Given the description of an element on the screen output the (x, y) to click on. 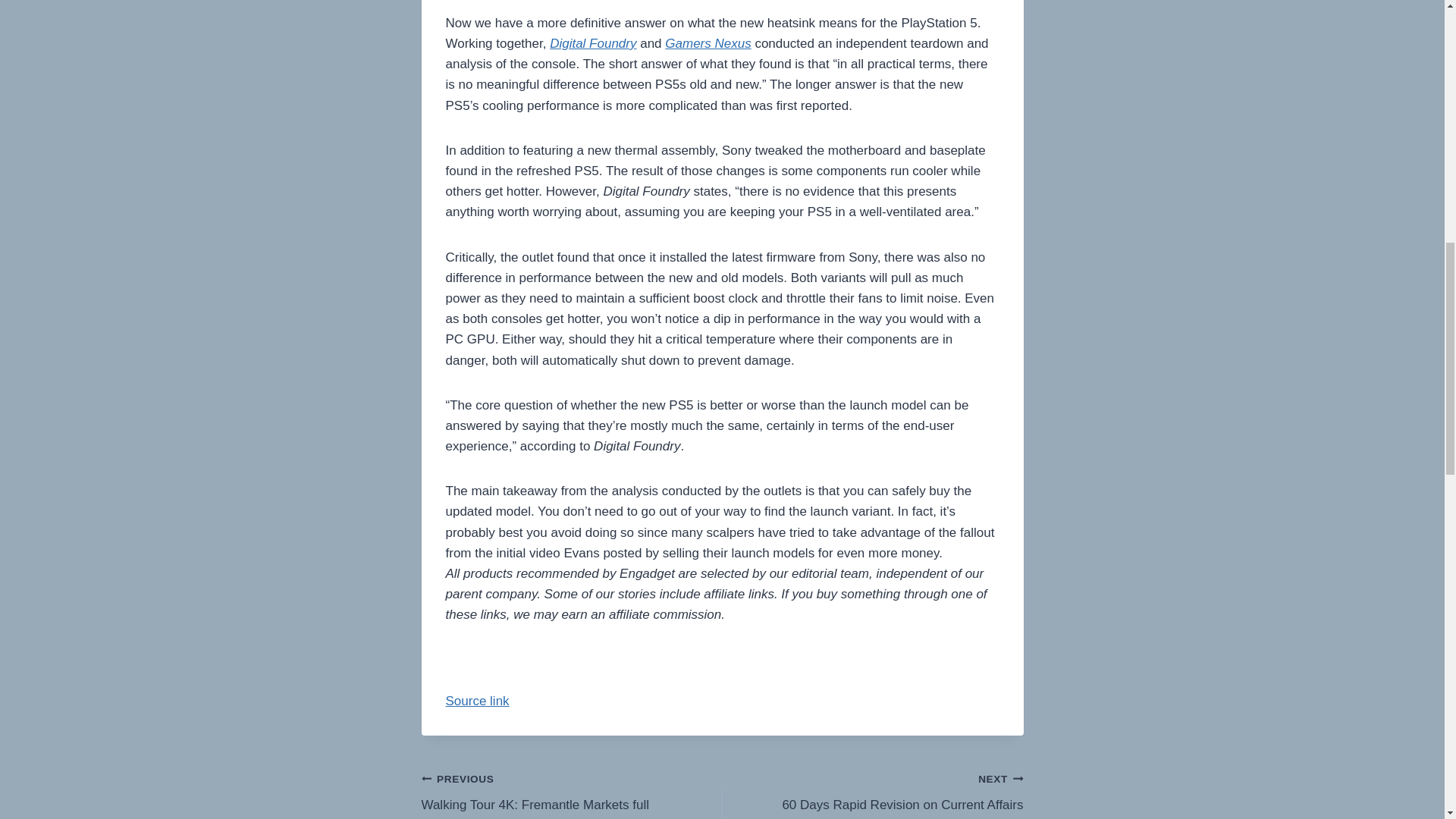
Digital Foundry (593, 43)
Source link (477, 700)
Gamers Nexus (708, 43)
